Given the description of an element on the screen output the (x, y) to click on. 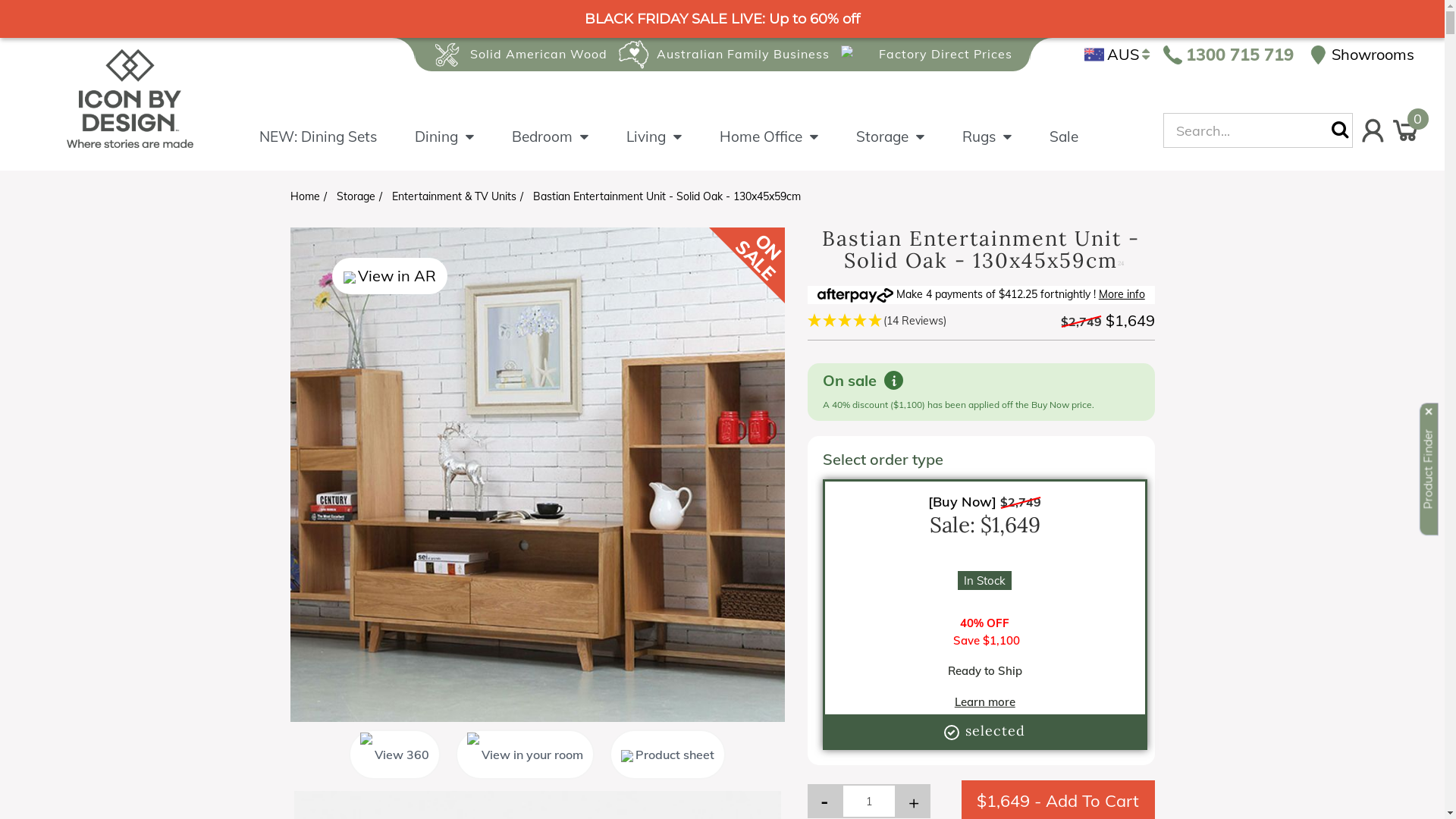
Living Element type: text (672, 148)
View in AR Element type: text (389, 275)
Large View Element type: hover (536, 474)
View 360 Element type: text (394, 754)
Product sheet Element type: text (667, 754)
Entertainment & TV Units Element type: text (453, 196)
Icon By Design Element type: hover (129, 97)
Make 4 payments of $412.25 fortnightly ! More info Element type: text (981, 294)
Search Element type: text (1341, 130)
AUS Element type: text (1116, 54)
BLACK FRIDAY SALE LIVE: Up to 60% off Element type: text (721, 18)
View in your room Element type: text (524, 754)
Home Office Element type: text (787, 148)
Dining Element type: text (462, 148)
Rugs Element type: text (1005, 148)
Bastian Entertainment Unit - Solid Oak - 130x45x59cm Element type: text (666, 196)
Bedroom Element type: text (568, 148)
1300 715 719 Element type: text (1228, 54)
Sale Element type: text (1063, 148)
Storage Element type: text (909, 148)
NEW: Dining Sets Element type: text (336, 148)
Showrooms Element type: text (1361, 54)
Home Element type: text (304, 196)
Storage Element type: text (355, 196)
